Given the description of an element on the screen output the (x, y) to click on. 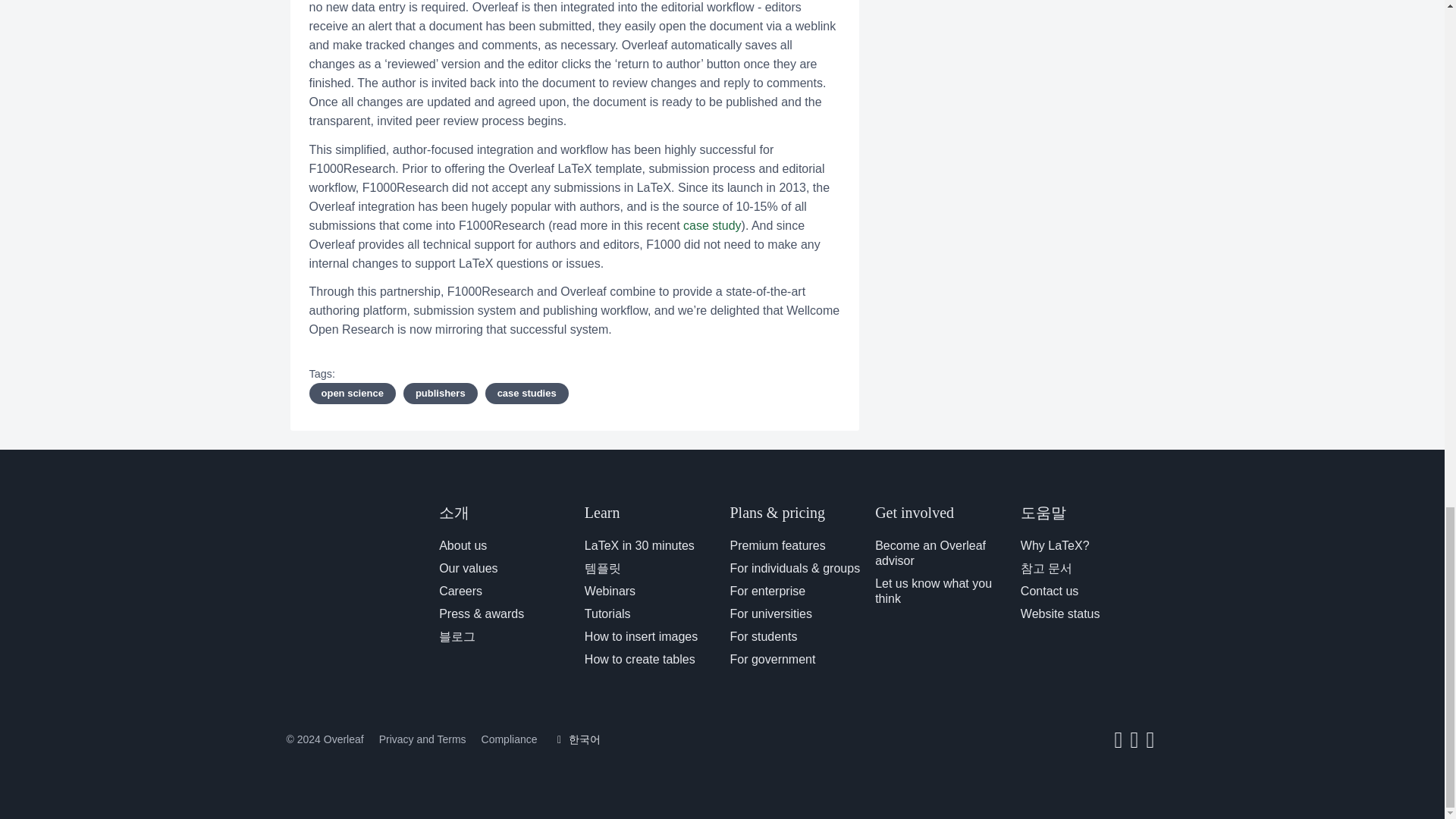
publishers (440, 393)
case studies (526, 393)
case study (711, 225)
open science (352, 393)
